Given the description of an element on the screen output the (x, y) to click on. 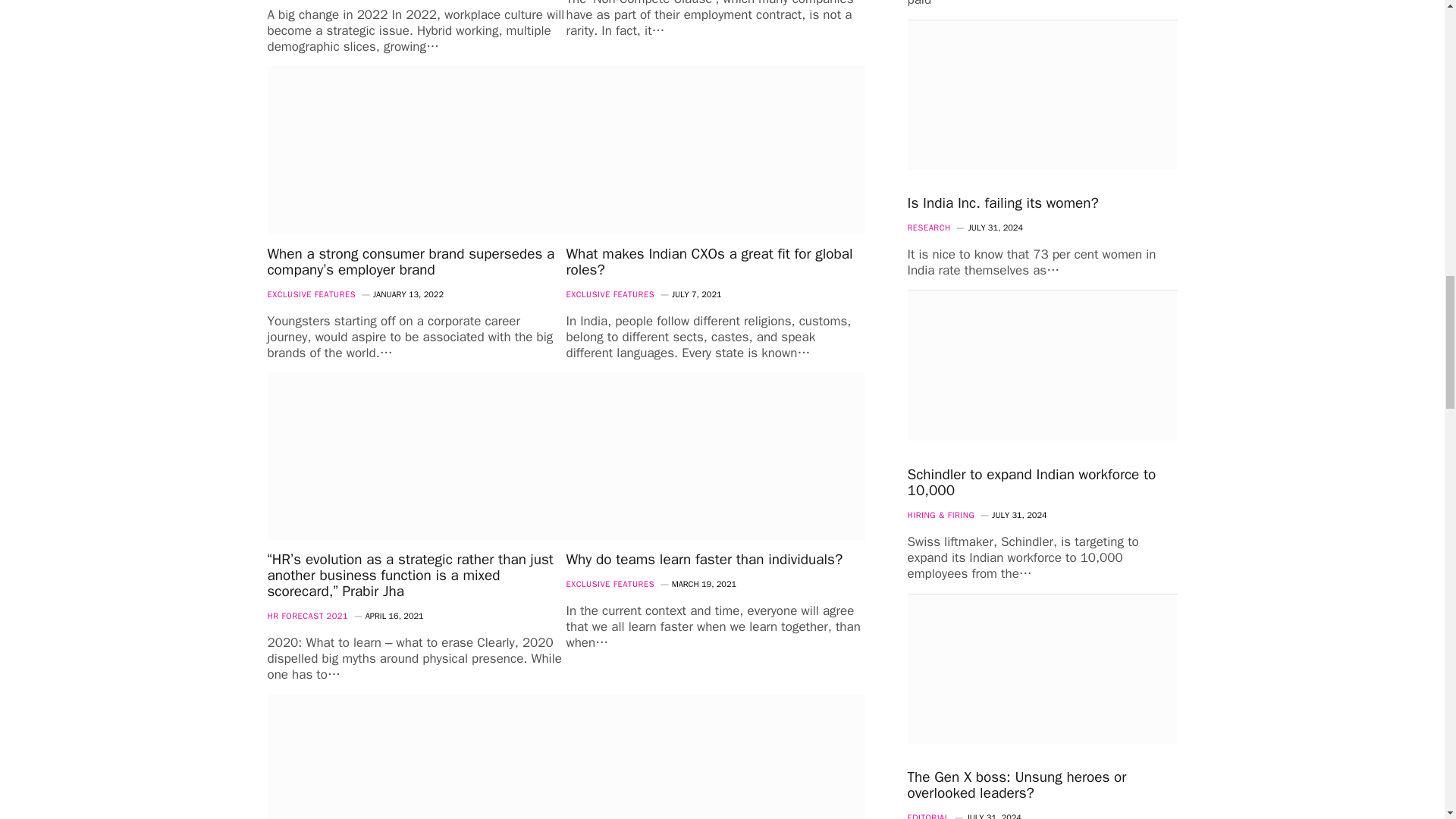
What makes Indian CXOs a great fit for global roles? (715, 150)
Why do teams learn faster than individuals? (715, 456)
